Given the description of an element on the screen output the (x, y) to click on. 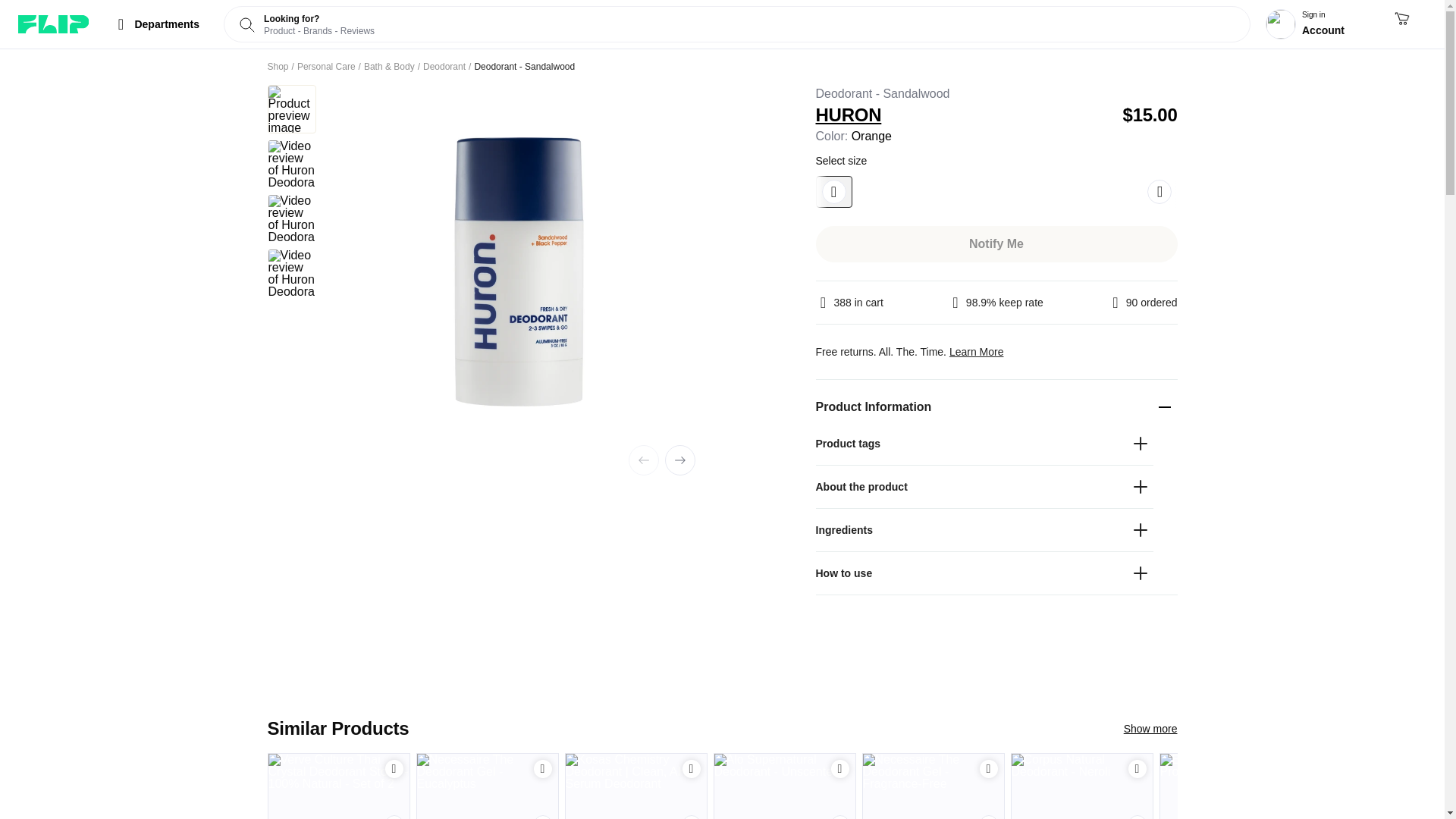
Notify Me (996, 244)
Shop (277, 66)
Add to Cart (394, 768)
Huron (963, 115)
Add to Cart (542, 769)
Flip feed (52, 24)
Personal Care (326, 66)
Add to Cart (691, 768)
Necessaire The Deodorant Gel - Eucalyptus (486, 786)
Add to Cart (691, 769)
